Given the description of an element on the screen output the (x, y) to click on. 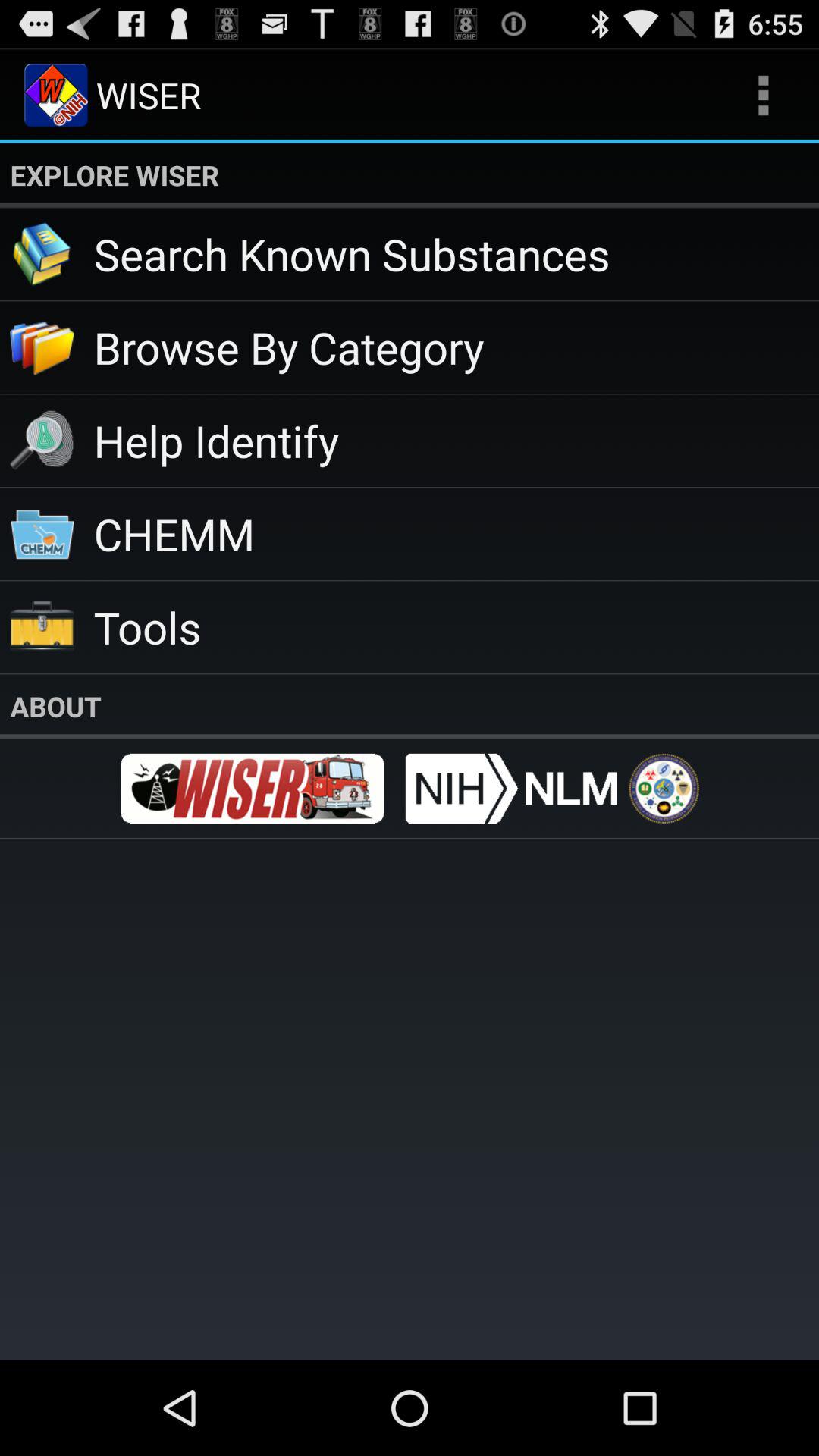
open the item above chemm app (456, 440)
